Given the description of an element on the screen output the (x, y) to click on. 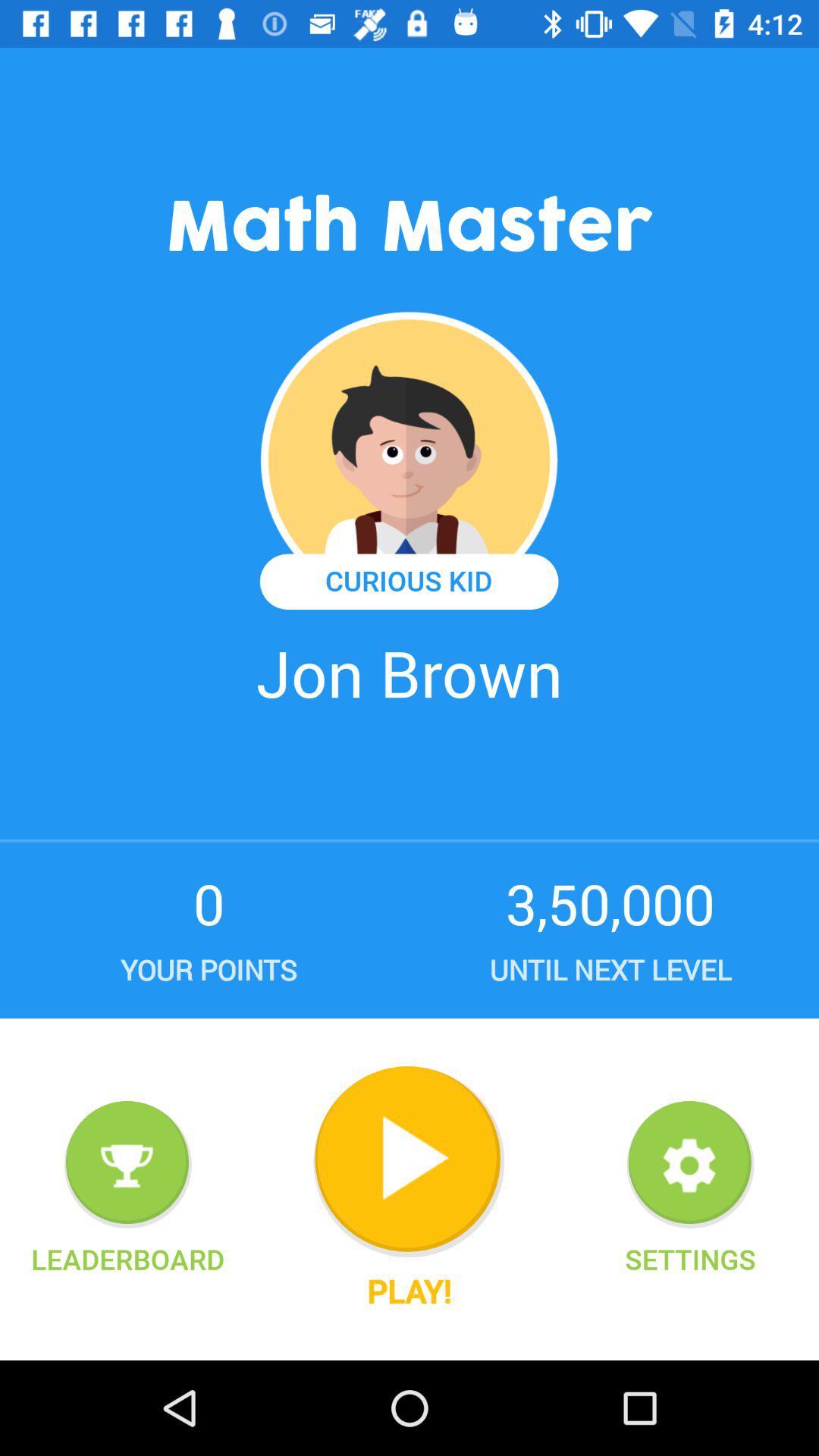
press icon above the settings icon (690, 1164)
